Given the description of an element on the screen output the (x, y) to click on. 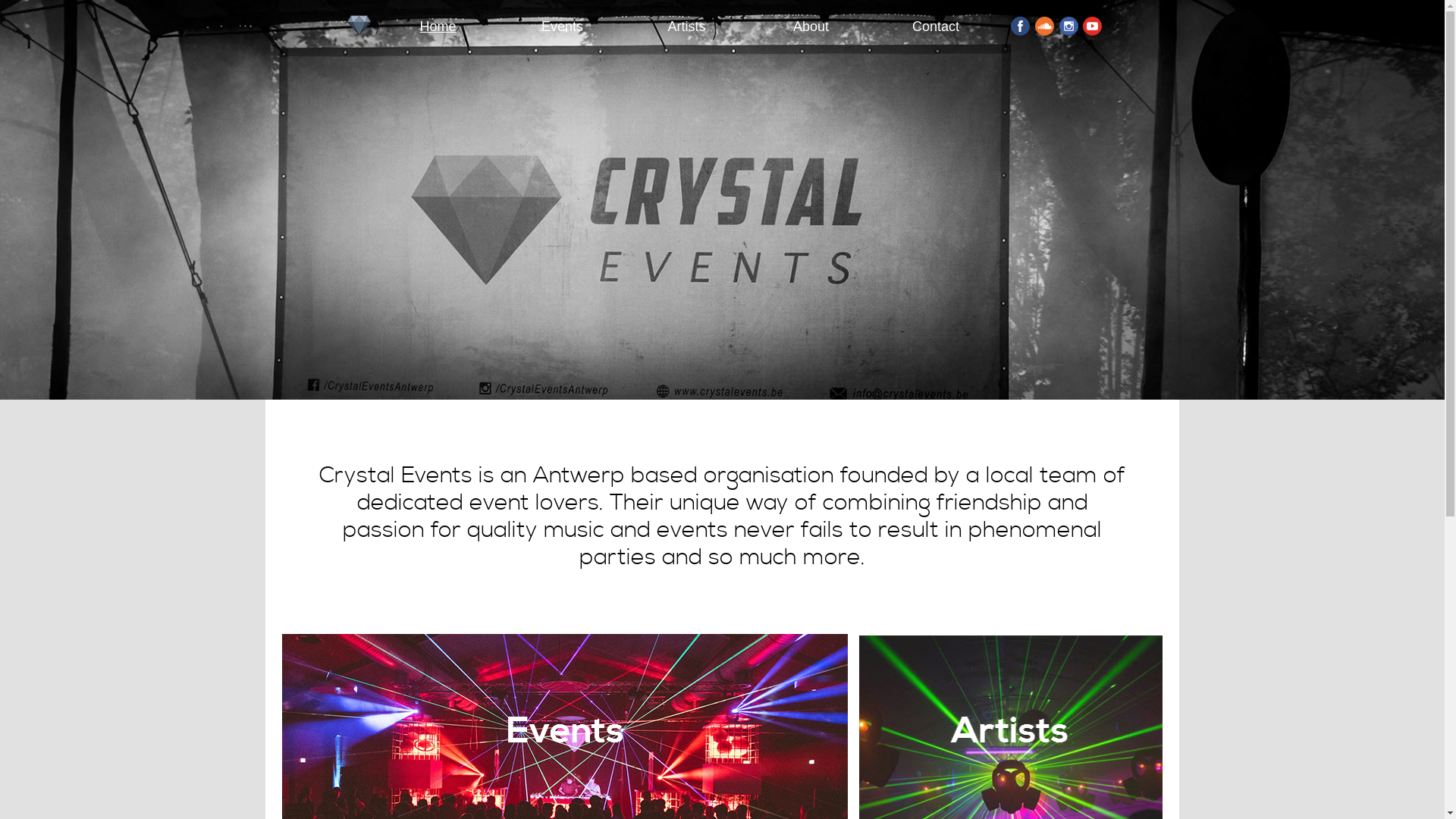
Artists Element type: text (685, 26)
Home Element type: text (437, 26)
About Element type: text (810, 26)
Events Element type: text (561, 26)
Contact Element type: text (935, 26)
